Given the description of an element on the screen output the (x, y) to click on. 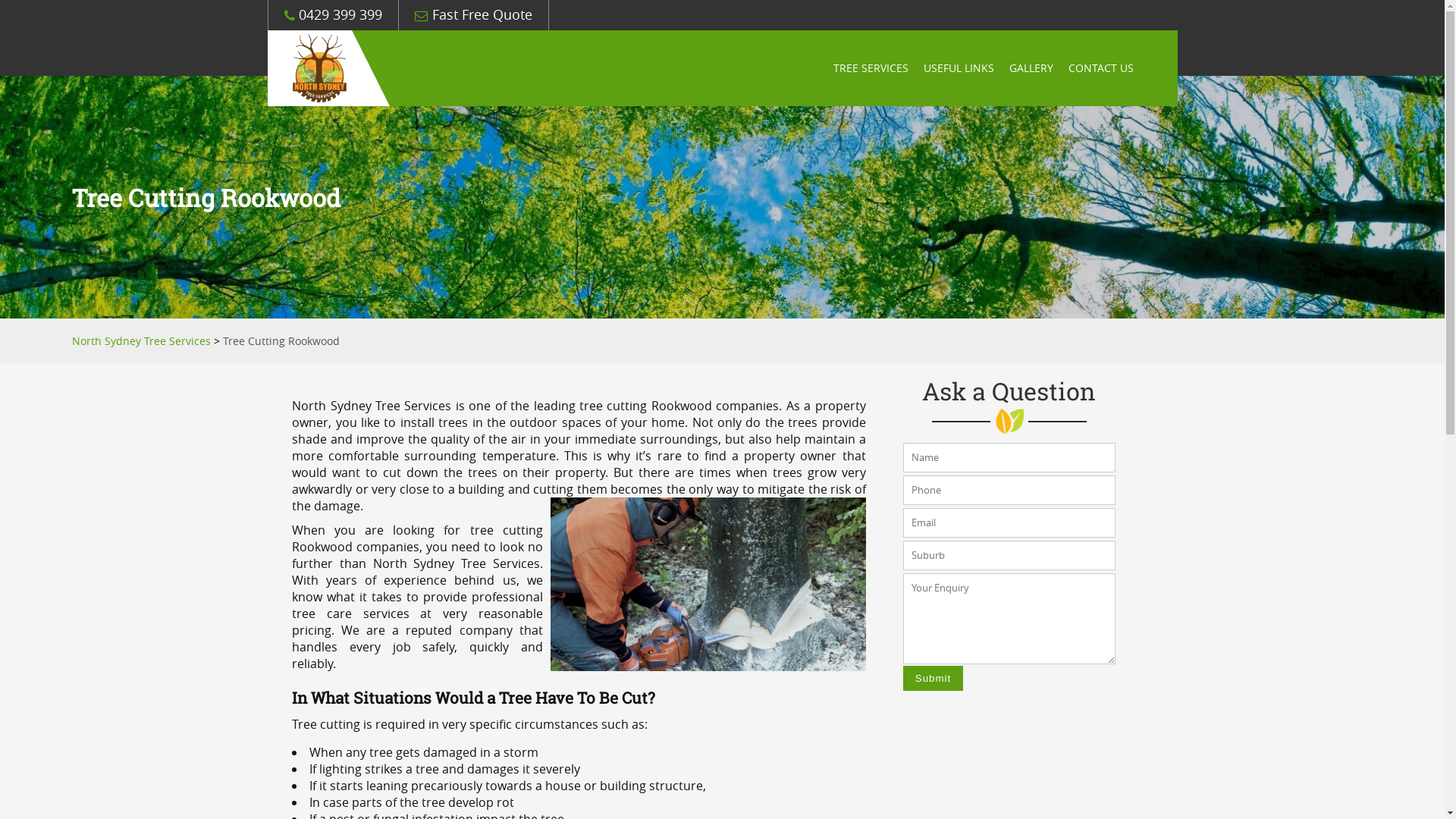
Fast Free Quote Element type: text (472, 15)
Submit Element type: text (933, 677)
USEFUL LINKS Element type: text (958, 67)
CONTACT US Element type: text (1100, 67)
0429 399 399 Element type: text (331, 15)
TREE SERVICES Element type: text (870, 67)
North Sydney Tree Services Element type: text (141, 340)
GALLERY Element type: text (1030, 67)
